Given the description of an element on the screen output the (x, y) to click on. 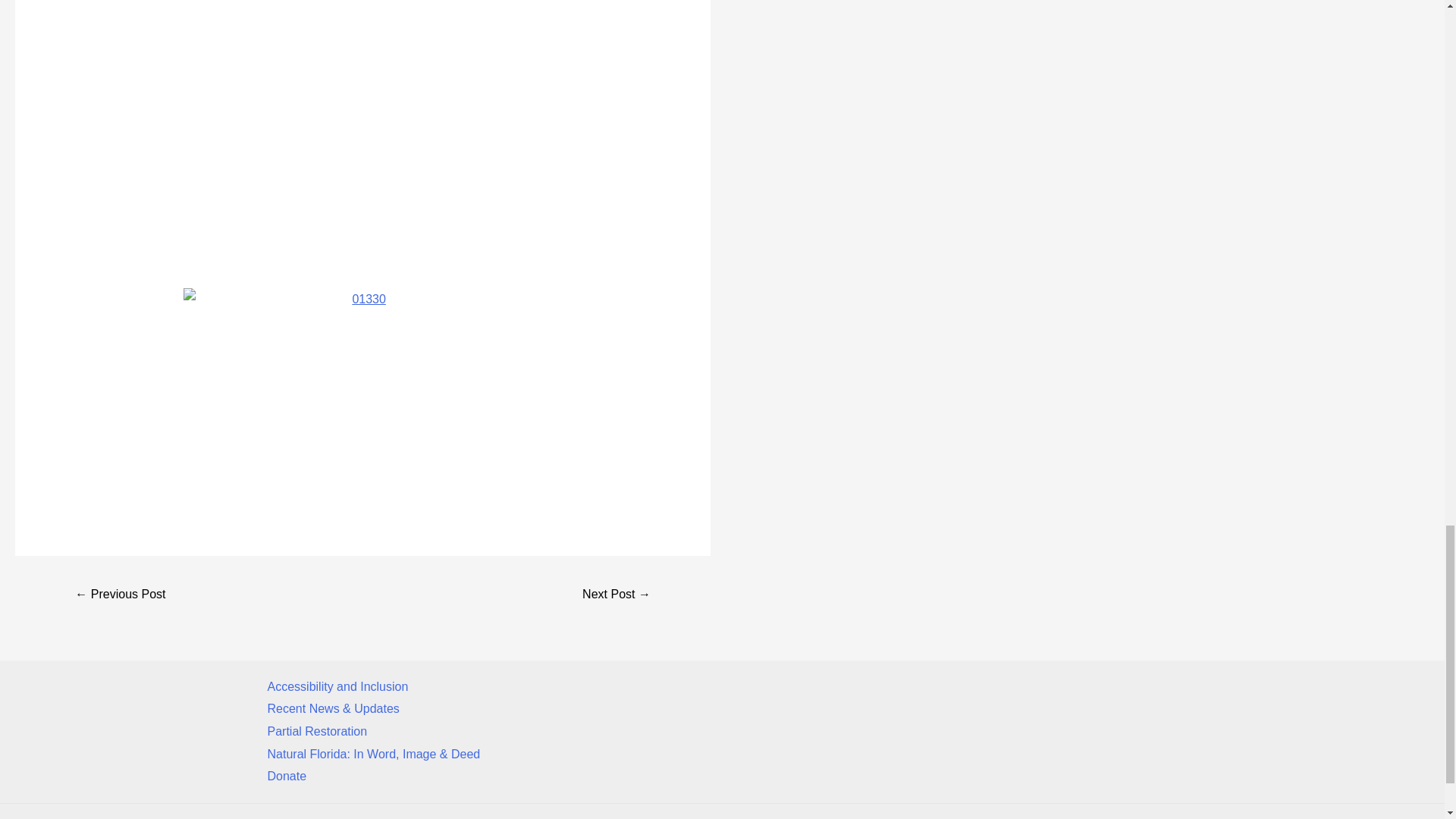
Steve Robitaille: Sleepy Creek is another bait and switch (616, 595)
An Illustrated Reading by Lola Haskins (119, 595)
